Given the description of an element on the screen output the (x, y) to click on. 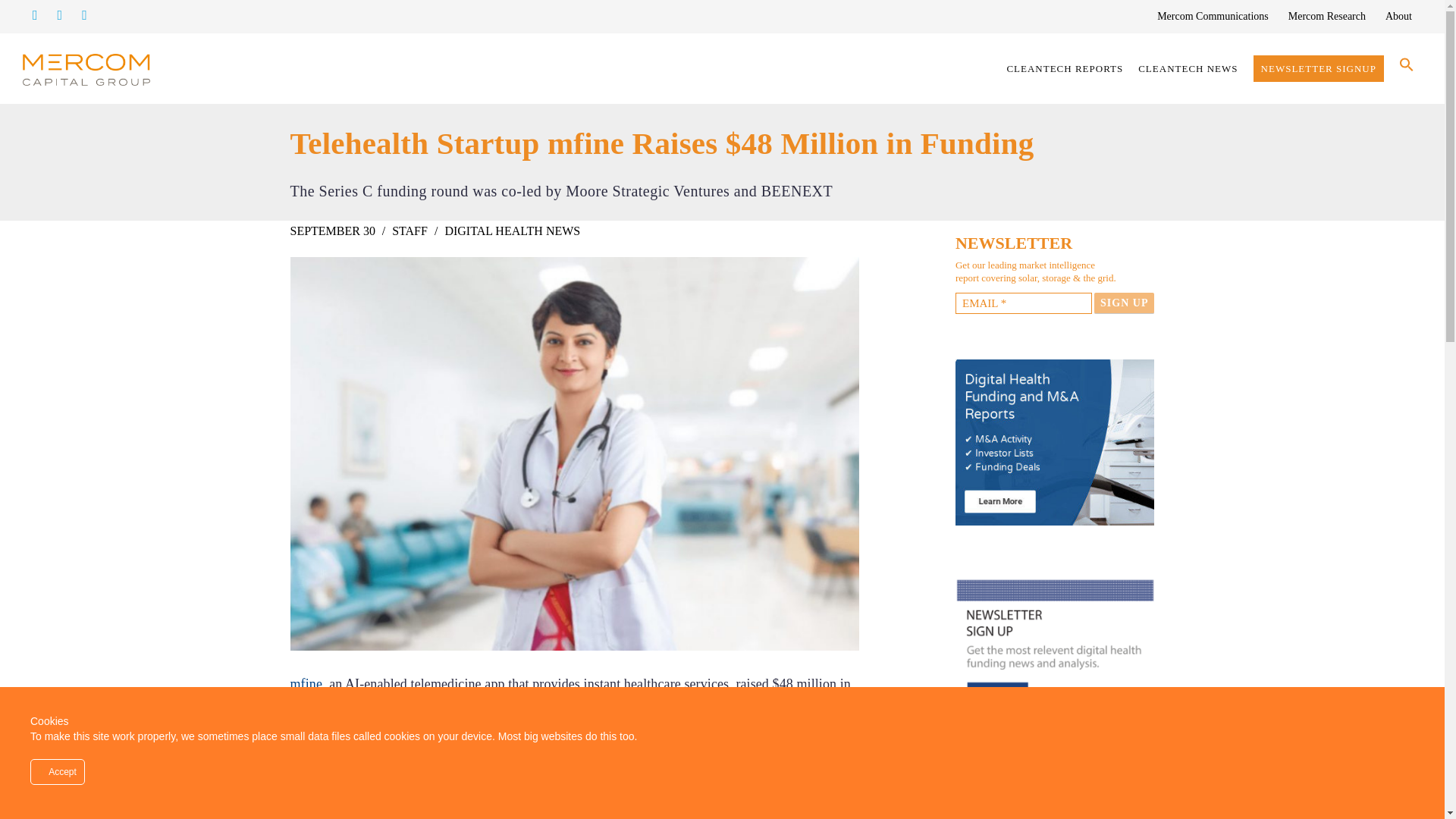
SIGN UP (1124, 302)
Posts by Staff (409, 230)
About (1399, 16)
CLEANTECH NEWS (1187, 68)
DIGITAL HEALTH NEWS (511, 230)
Mercom Research (1326, 16)
mfine (305, 683)
STAFF (409, 230)
NEWSLETTER SIGNUP (1318, 68)
Mercom Communications (1212, 16)
CLEANTECH REPORTS (1064, 68)
